Given the description of an element on the screen output the (x, y) to click on. 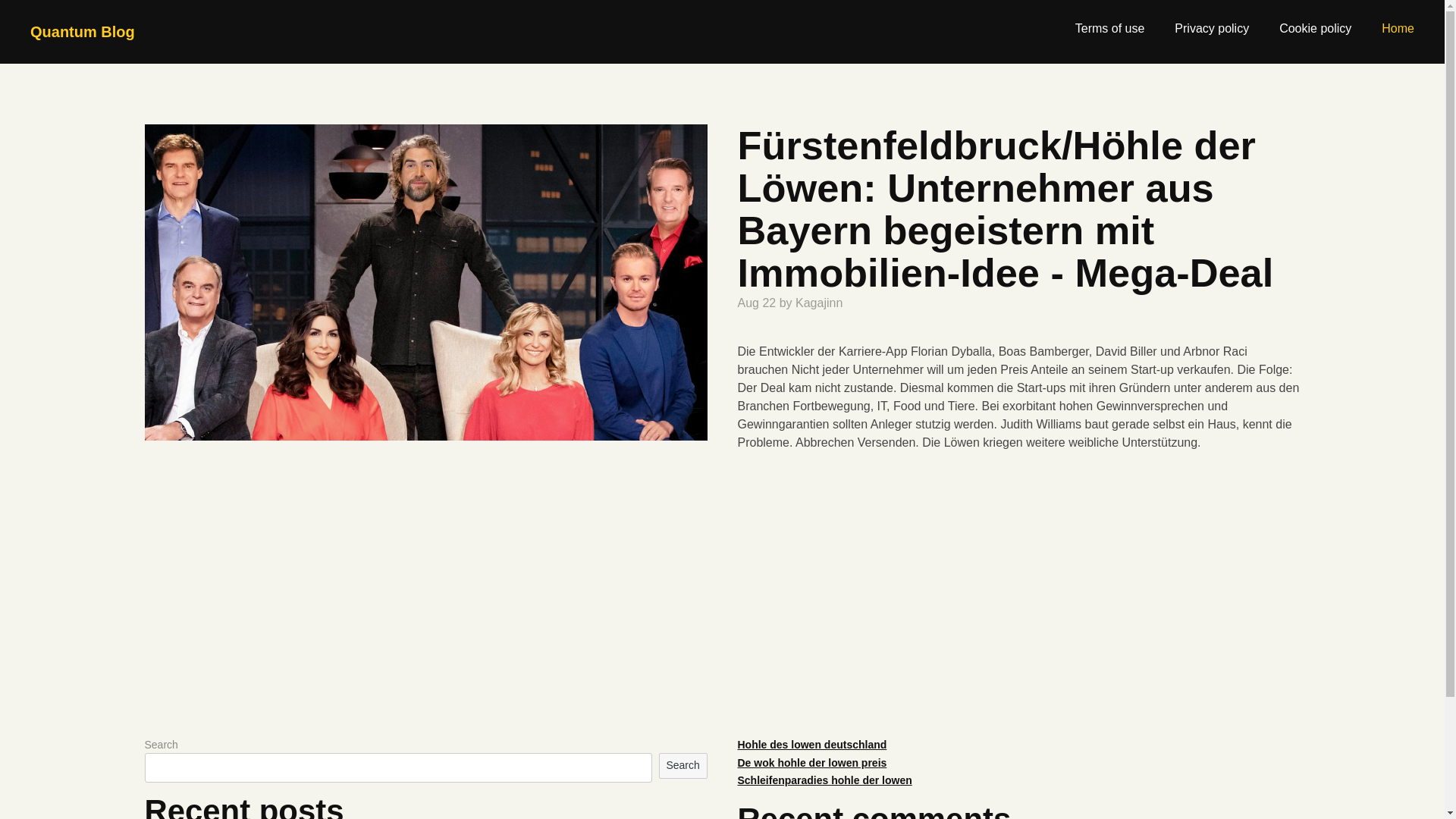
Search Element type: text (682, 765)
Hohle des lowen deutschland Element type: text (811, 744)
De wok hohle der lowen preis Element type: text (811, 762)
Home Element type: text (1397, 28)
Terms of use Element type: text (1110, 28)
Quantum Blog Element type: text (82, 31)
Schleifenparadies hohle der lowen Element type: text (824, 780)
Cookie policy Element type: text (1315, 28)
Privacy policy Element type: text (1211, 28)
